Given the description of an element on the screen output the (x, y) to click on. 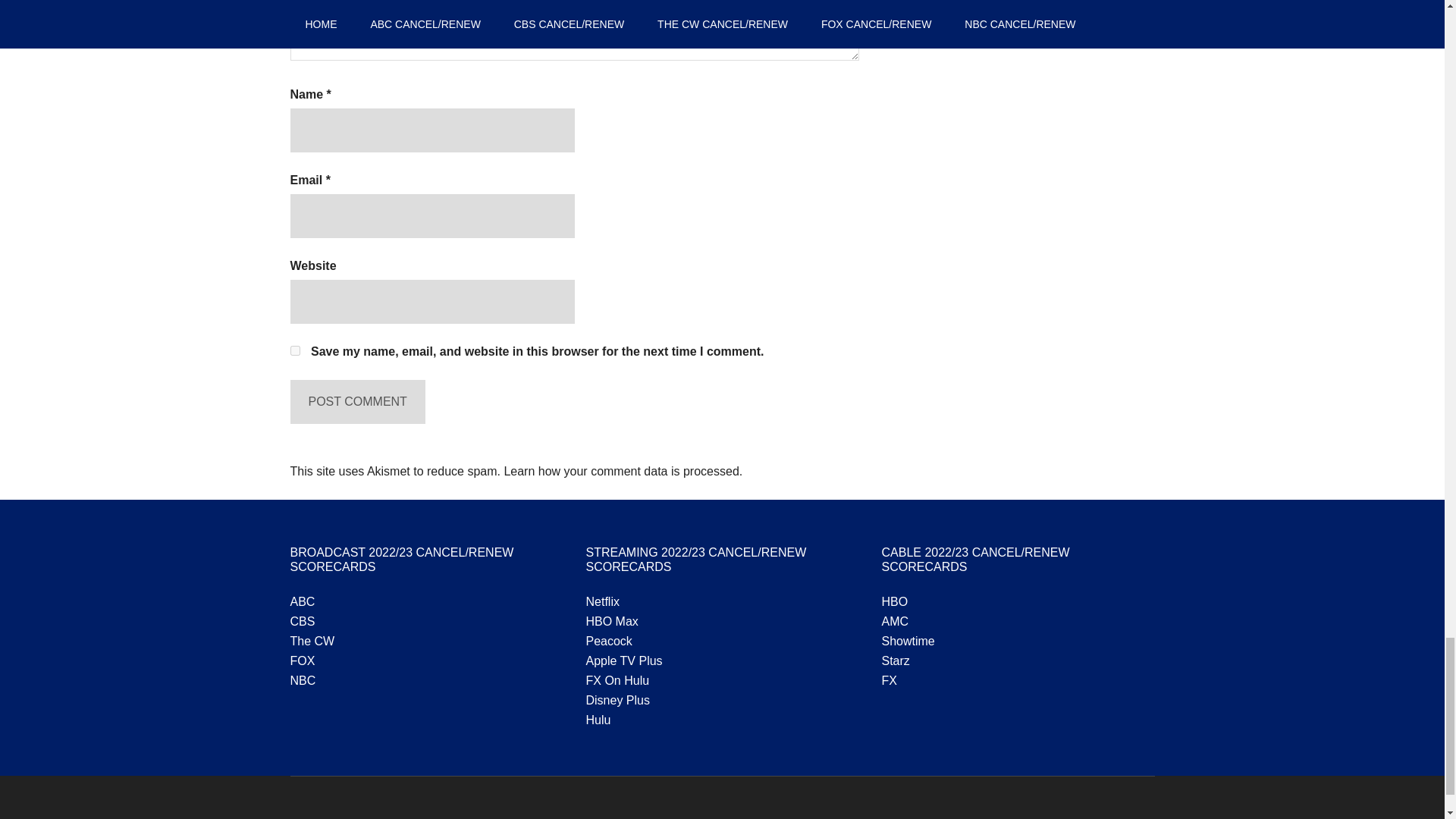
Post Comment (357, 402)
Post Comment (357, 402)
yes (294, 350)
Learn how your comment data is processed (620, 471)
